Given the description of an element on the screen output the (x, y) to click on. 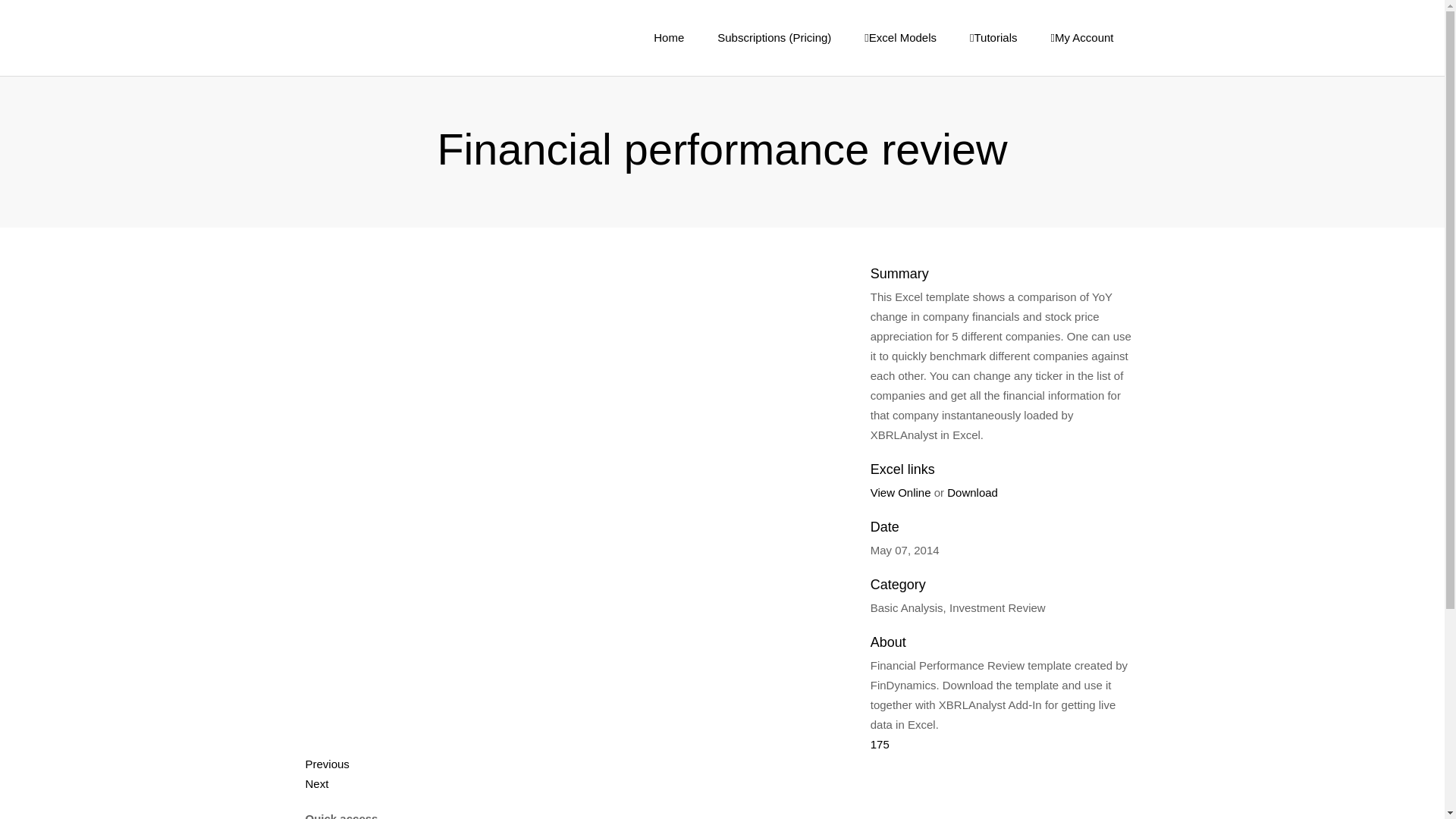
Excel Models (900, 38)
Download Excel template (972, 492)
View Excel template online (900, 492)
My Account (1081, 38)
Like this (879, 744)
Tutorials (993, 38)
